Given the description of an element on the screen output the (x, y) to click on. 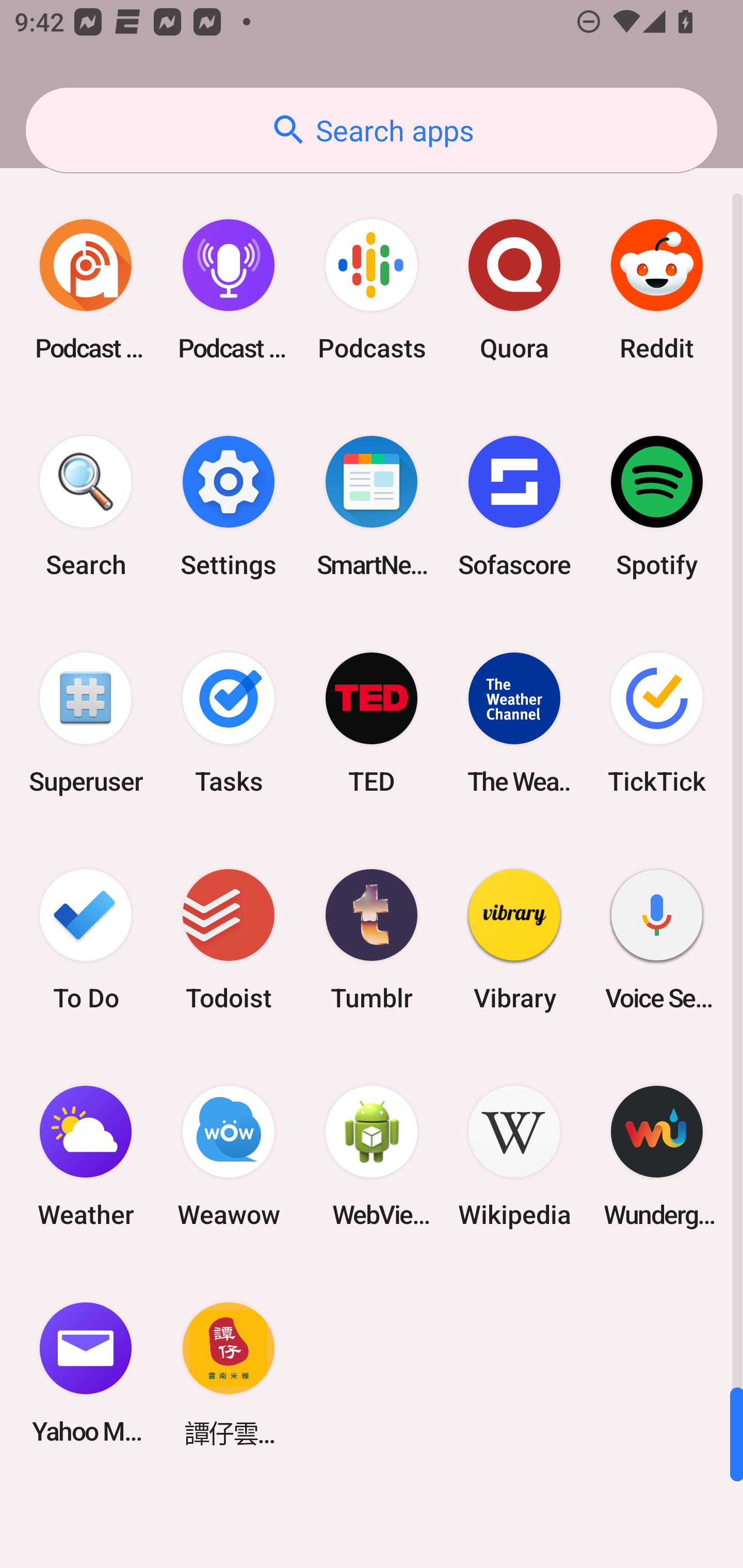
  Search apps (371, 130)
Podcast Addict (85, 289)
Podcast Player (228, 289)
Podcasts (371, 289)
Quora (514, 289)
Reddit (656, 289)
Search (85, 506)
Settings (228, 506)
SmartNews (371, 506)
Sofascore (514, 506)
Spotify (656, 506)
Superuser (85, 722)
Tasks (228, 722)
TED (371, 722)
The Weather Channel (514, 722)
TickTick (656, 722)
To Do (85, 939)
Todoist (228, 939)
Tumblr (371, 939)
Vibrary (514, 939)
Voice Search (656, 939)
Weather (85, 1156)
Weawow (228, 1156)
WebView Browser Tester (371, 1156)
Wikipedia (514, 1156)
Wunderground (656, 1156)
Yahoo Mail (85, 1373)
譚仔雲南米線 (228, 1373)
